Given the description of an element on the screen output the (x, y) to click on. 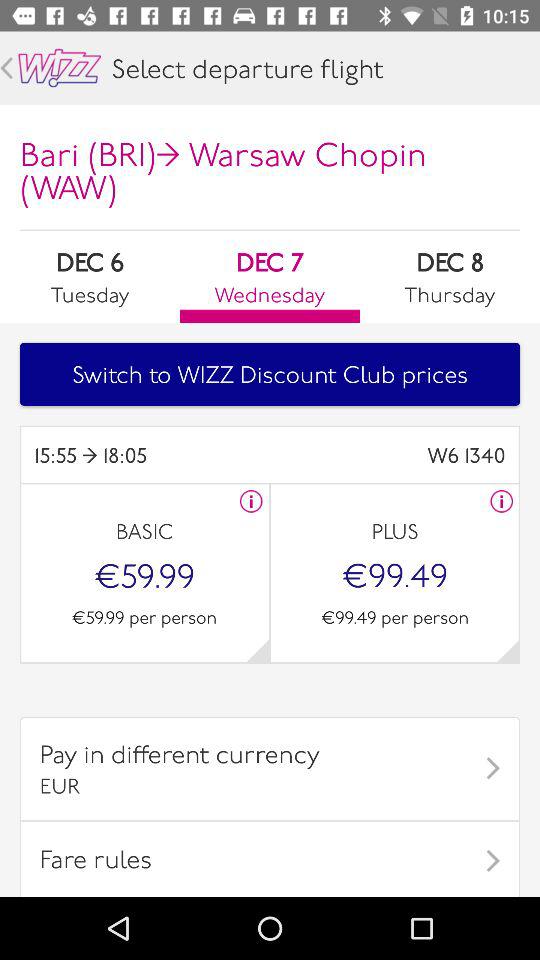
gives more information (501, 501)
